Given the description of an element on the screen output the (x, y) to click on. 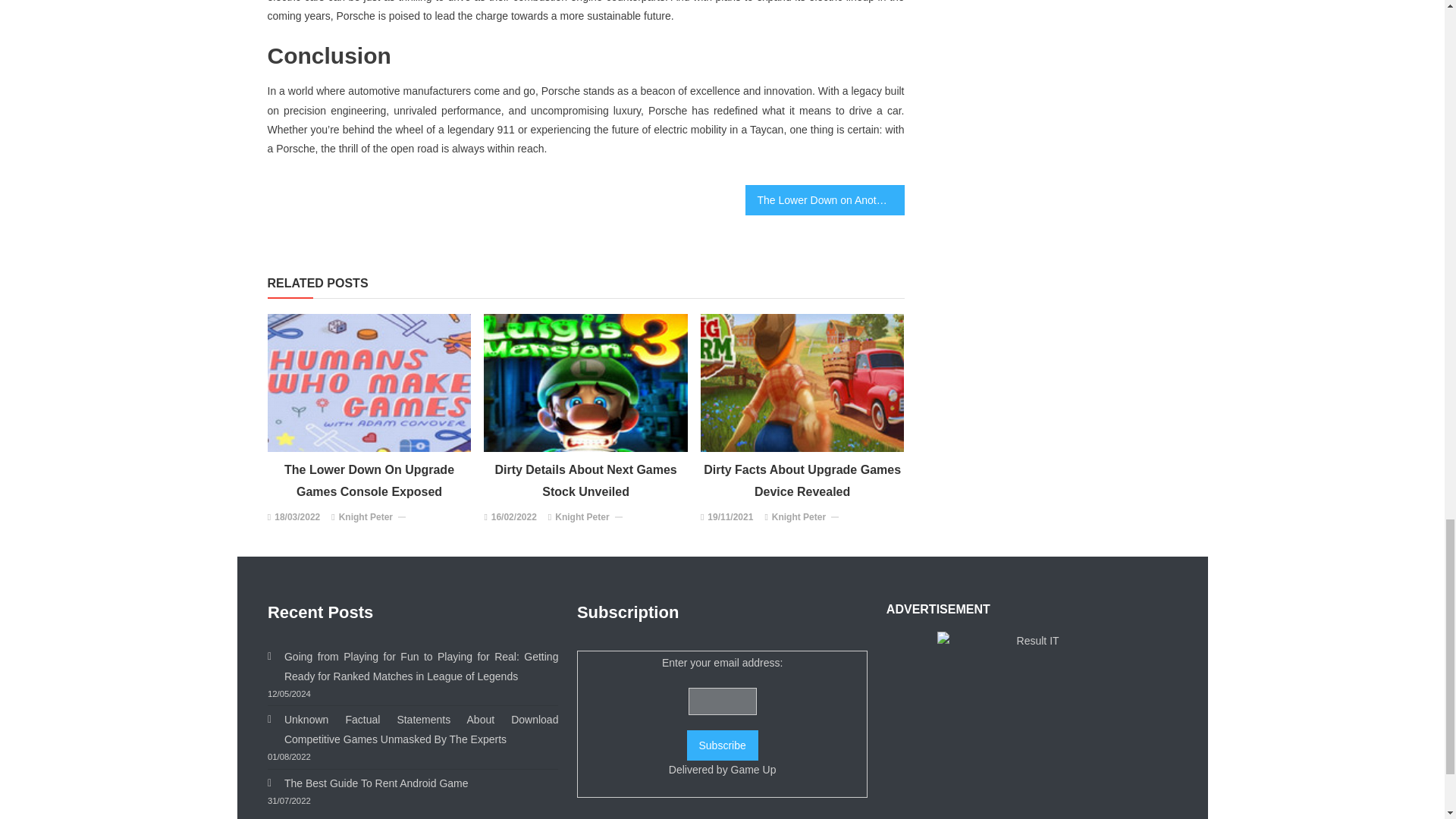
Knight Peter (581, 517)
Dirty Details About Next Games Stock Unveiled (585, 481)
The Lower Down on Another Device Games Download Revealed (824, 200)
Knight Peter (366, 517)
Dirty Facts About Upgrade Games Device Revealed (802, 481)
Dirty Details About Next Games Stock Unveiled (585, 382)
The Lower Down On Upgrade Games Console Exposed (368, 481)
The Lower Down on Upgrade Games Console Exposed (368, 382)
Subscribe (722, 745)
Dirty Facts About Upgrade Games Device Revealed (802, 382)
Knight Peter (798, 517)
Result IT (1031, 725)
